Given the description of an element on the screen output the (x, y) to click on. 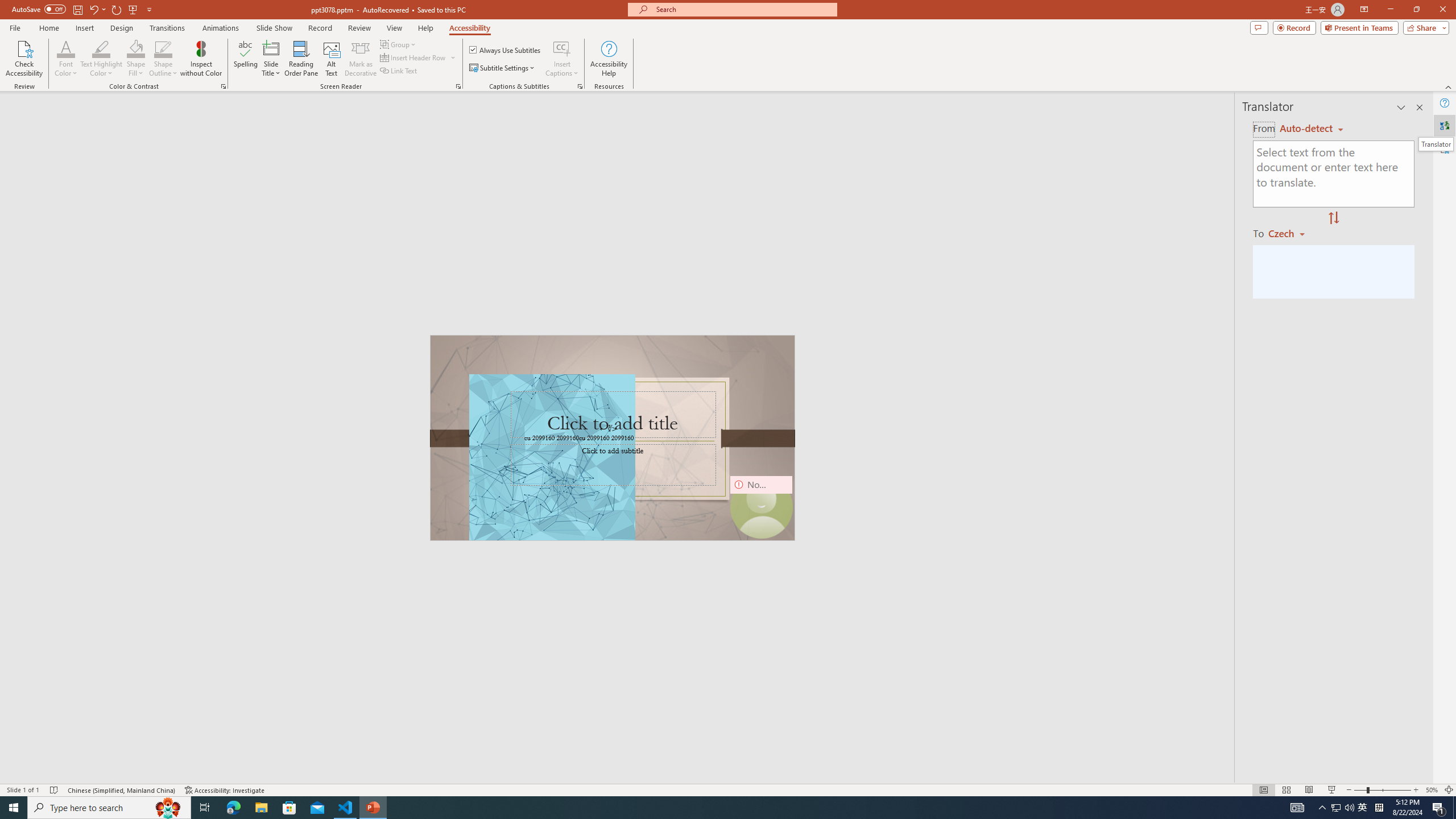
Spelling... (245, 58)
Font Color (65, 48)
Shape Fill (135, 48)
An abstract genetic concept (612, 437)
Class: MsoCommandBar (728, 789)
